Given the description of an element on the screen output the (x, y) to click on. 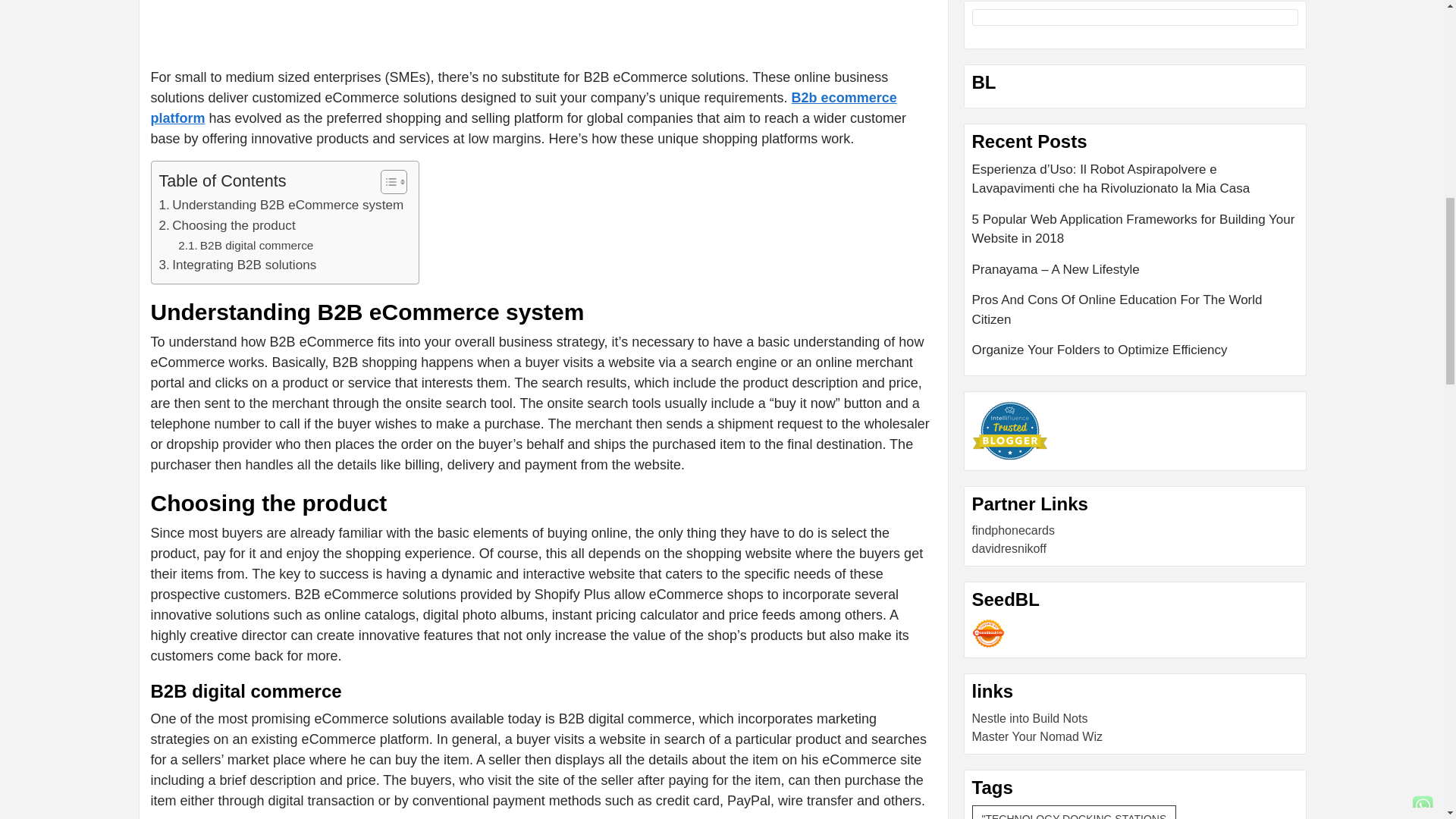
davidresnikoff (1009, 548)
Integrating B2B solutions (237, 264)
Nestle into Build Nots (1029, 717)
Integrating B2B solutions (237, 264)
Choosing the product (226, 225)
Organize Your Folders to Optimize Efficiency (1135, 350)
Seedbacklink (988, 633)
Choosing the product (226, 225)
B2b ecommerce platform (522, 108)
Pros And Cons Of Online Education For The World Citizen (1135, 315)
B2B digital commerce (245, 245)
Understanding B2B eCommerce system (281, 204)
B2B digital commerce (245, 245)
findphonecards (1013, 530)
